Given the description of an element on the screen output the (x, y) to click on. 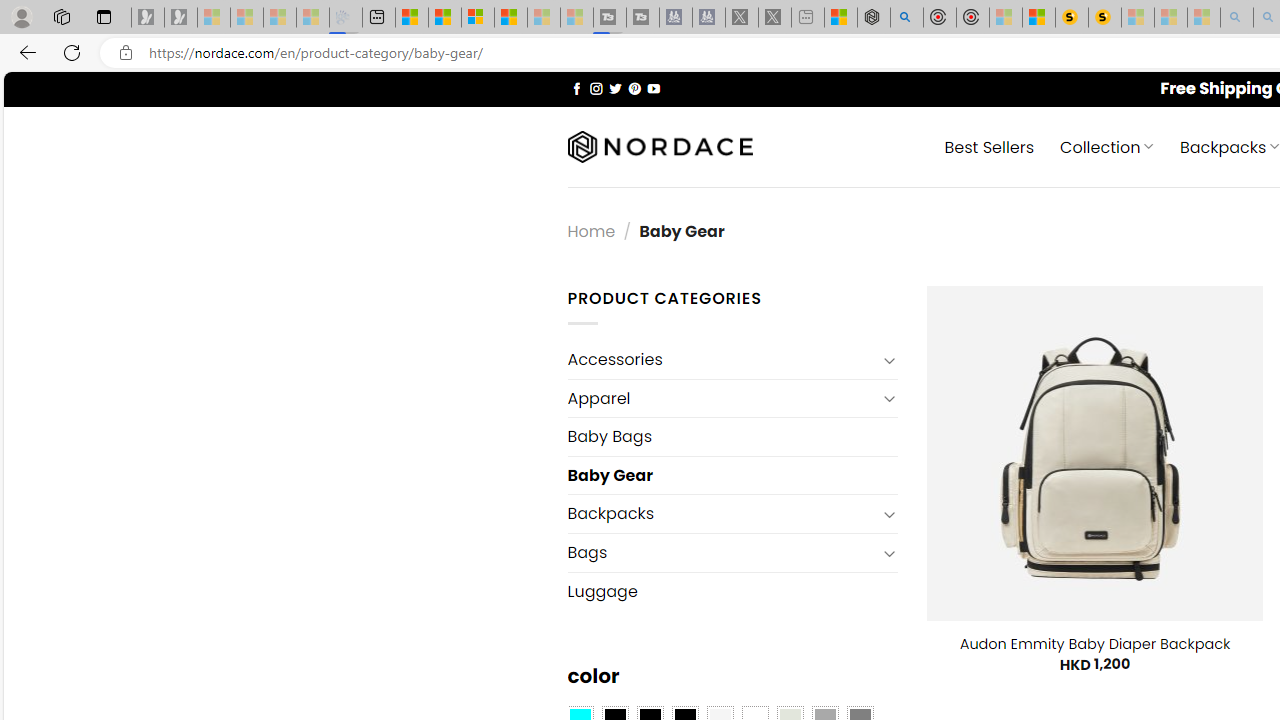
Accessories (721, 359)
  Best Sellers (989, 146)
Luggage (732, 591)
